Given the description of an element on the screen output the (x, y) to click on. 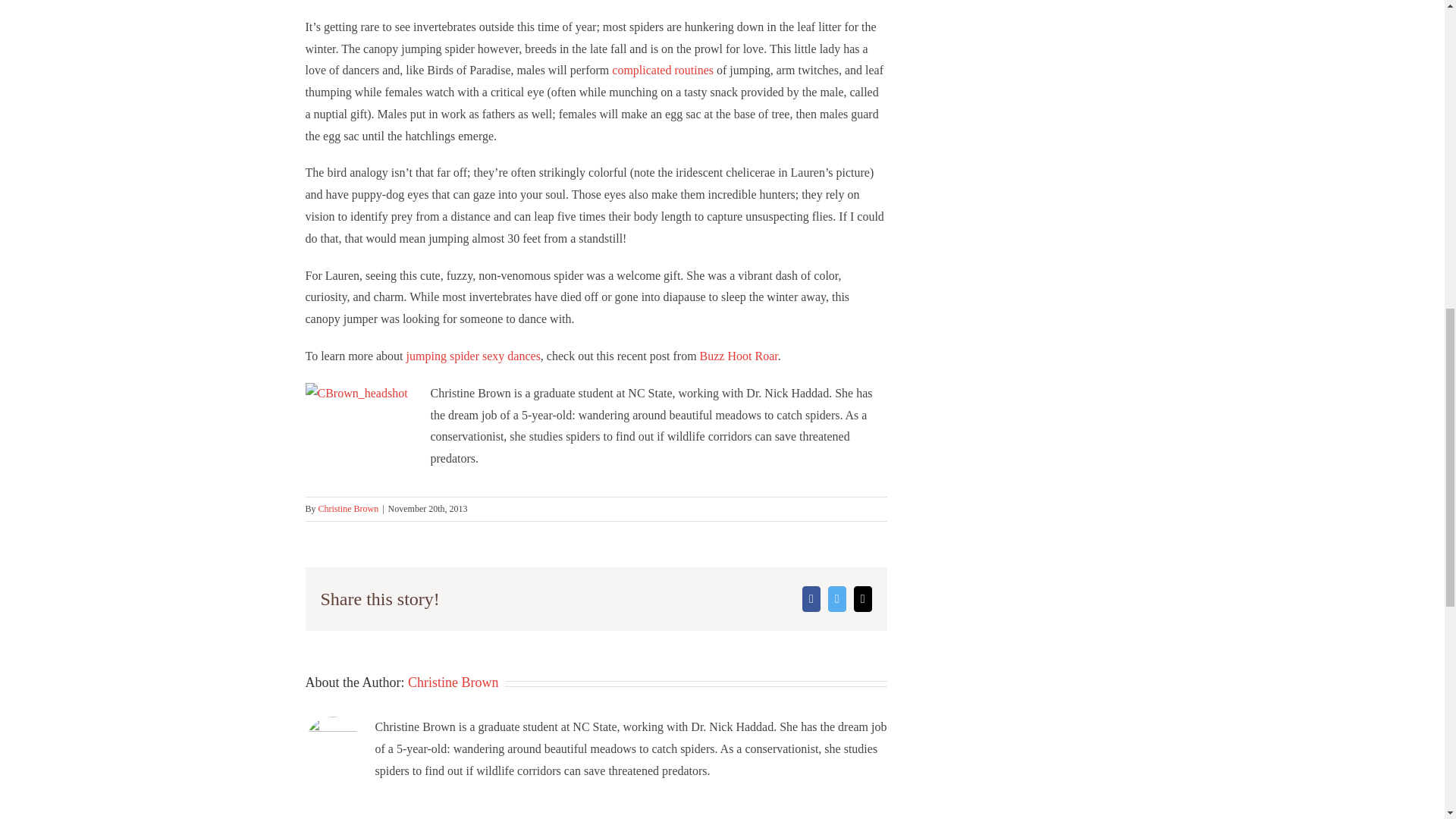
complicated routines (662, 69)
jumping spider sexy dances (473, 355)
Christine Brown (453, 682)
Christine Brown (348, 508)
Posts by Christine Brown (453, 682)
Buzz Hoot Roar (738, 355)
Posts by Christine Brown (348, 508)
